Given the description of an element on the screen output the (x, y) to click on. 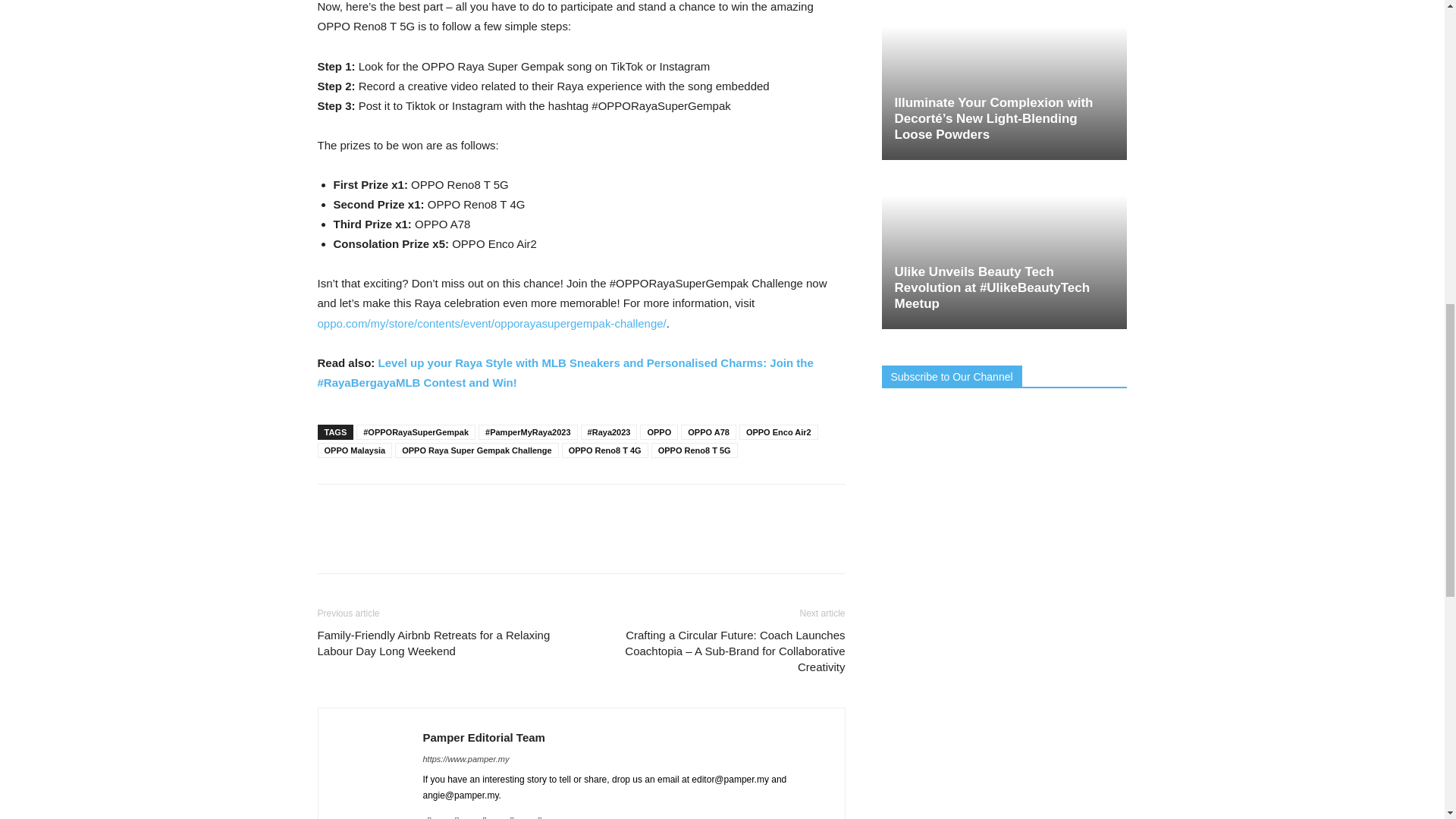
Twitter (518, 815)
Youtube (544, 815)
Facebook (435, 815)
Instagram (489, 815)
